Given the description of an element on the screen output the (x, y) to click on. 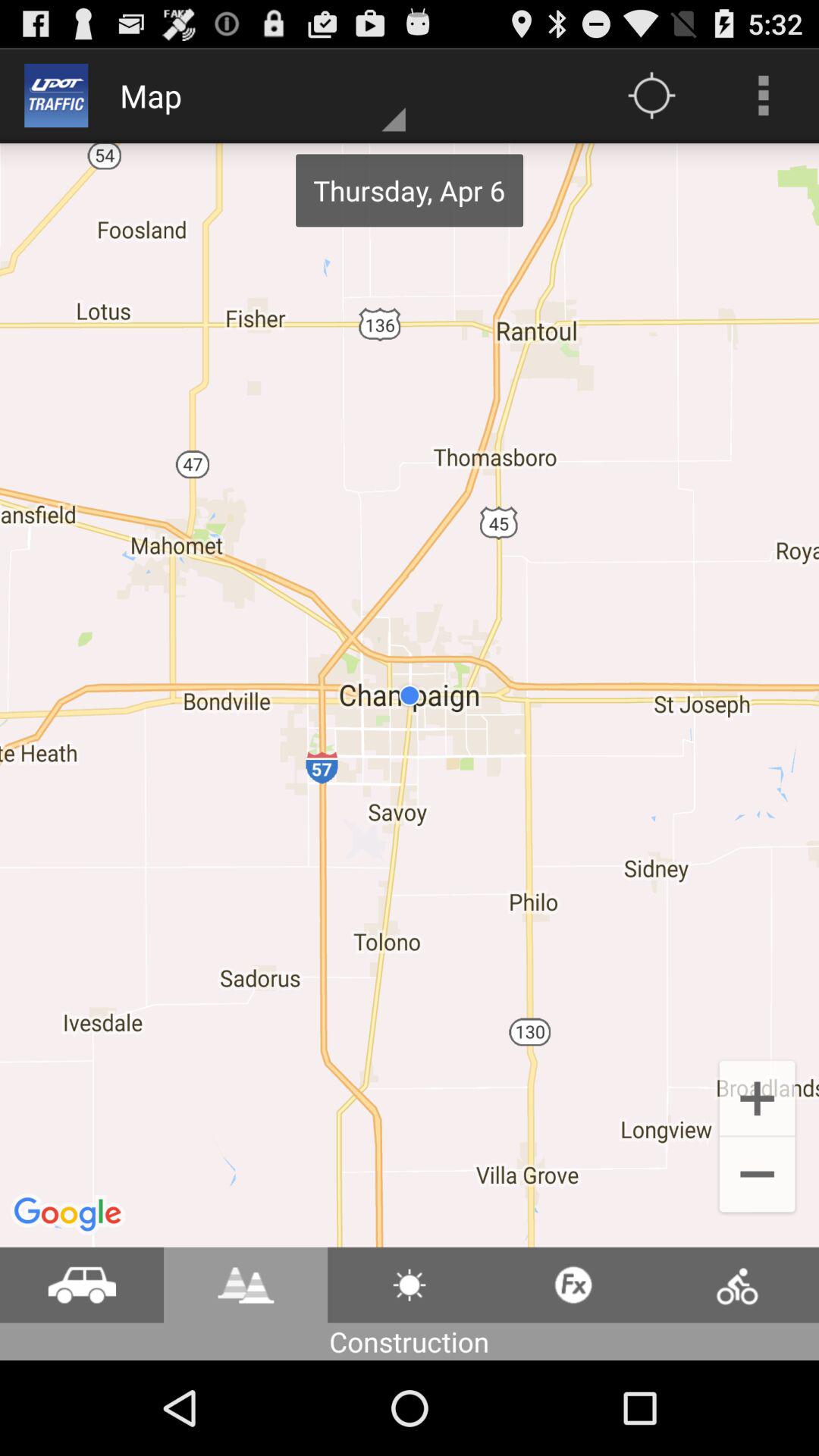
cycling (737, 1284)
